Given the description of an element on the screen output the (x, y) to click on. 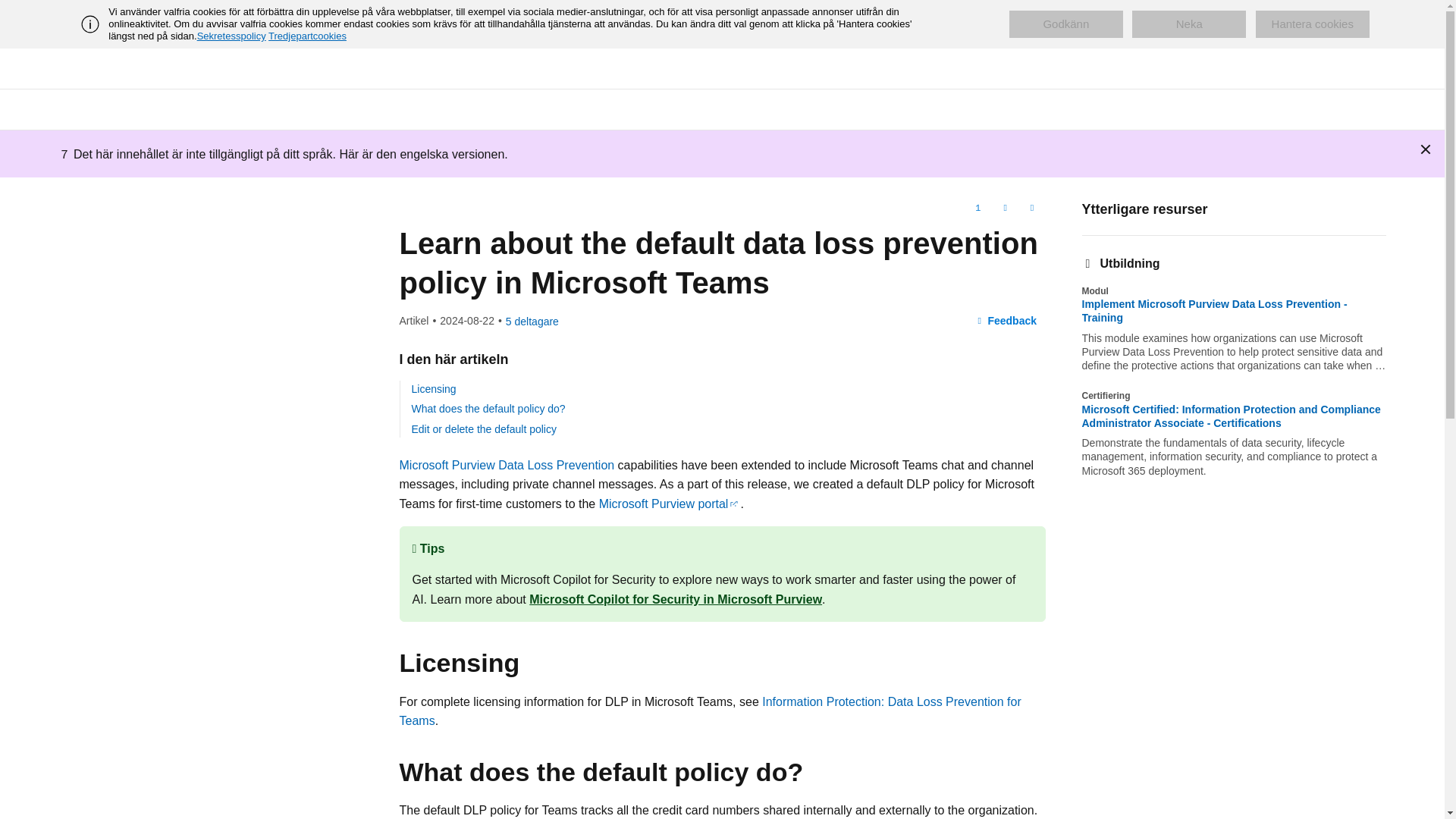
Tredjepartcookies (306, 35)
Microsoft Copilot for Security in Microsoft Purview (675, 599)
What does the default policy do? (487, 408)
Feedback (1005, 320)
Licensing (432, 388)
Neka (1189, 23)
Visa alla som har medverkat (532, 321)
Information Protection: Data Loss Prevention for Teams (709, 710)
Microsoft Purview Data Loss Prevention (506, 464)
5 deltagare (532, 321)
